Given the description of an element on the screen output the (x, y) to click on. 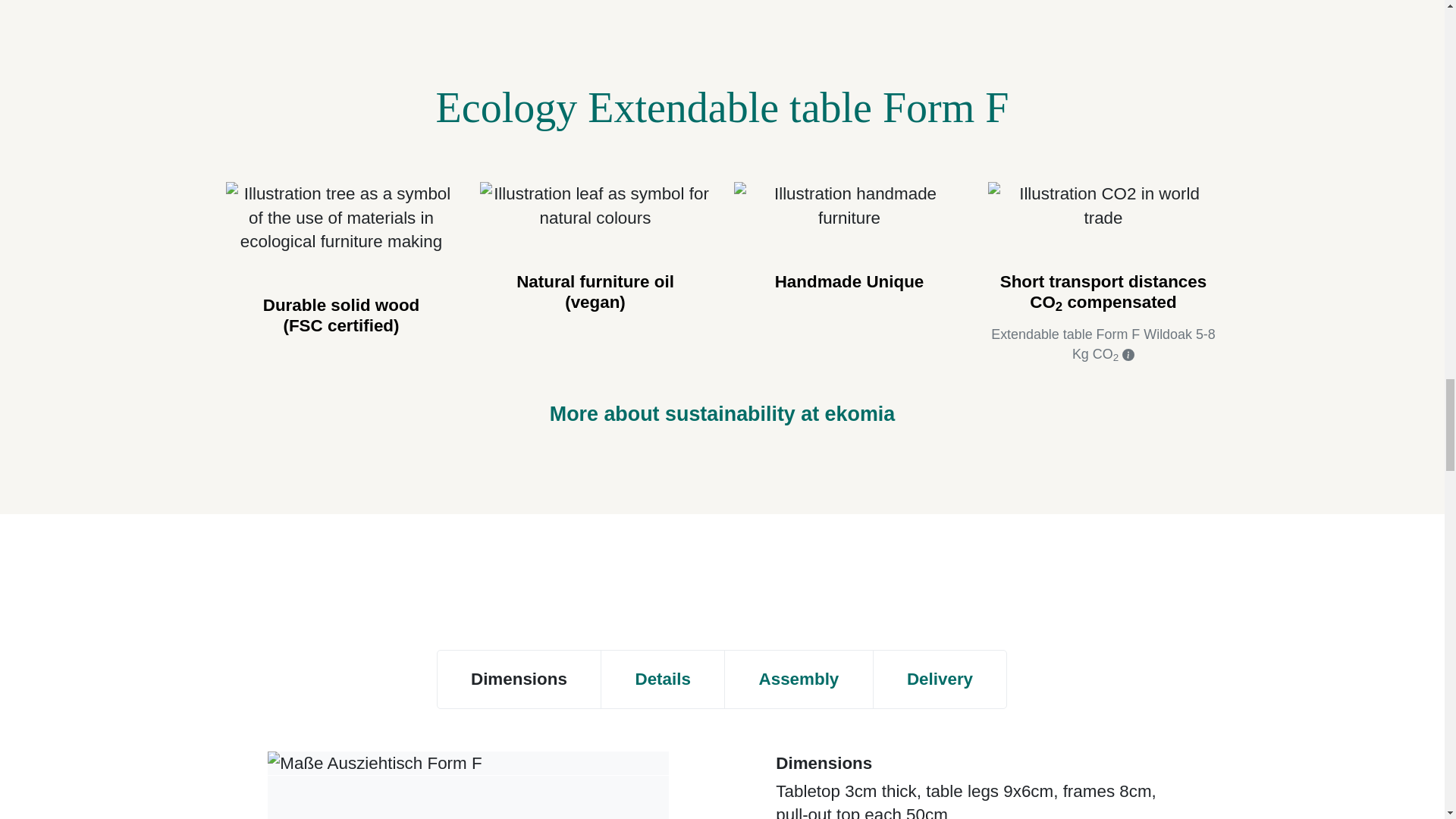
Calculated according to ecotransit.org (1128, 354)
